Given the description of an element on the screen output the (x, y) to click on. 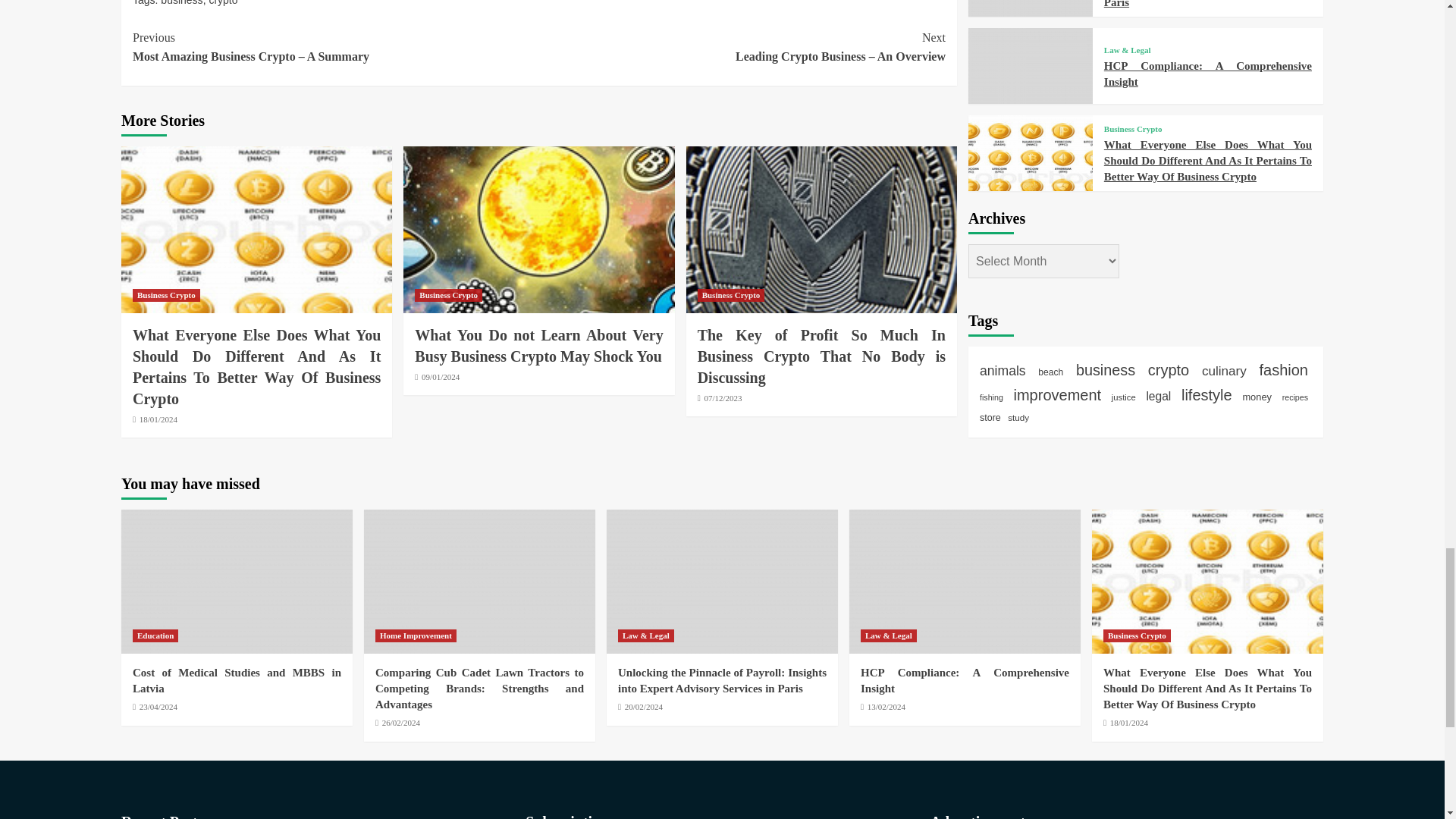
Business Crypto (447, 295)
business (181, 2)
crypto (222, 2)
Business Crypto (166, 295)
